Given the description of an element on the screen output the (x, y) to click on. 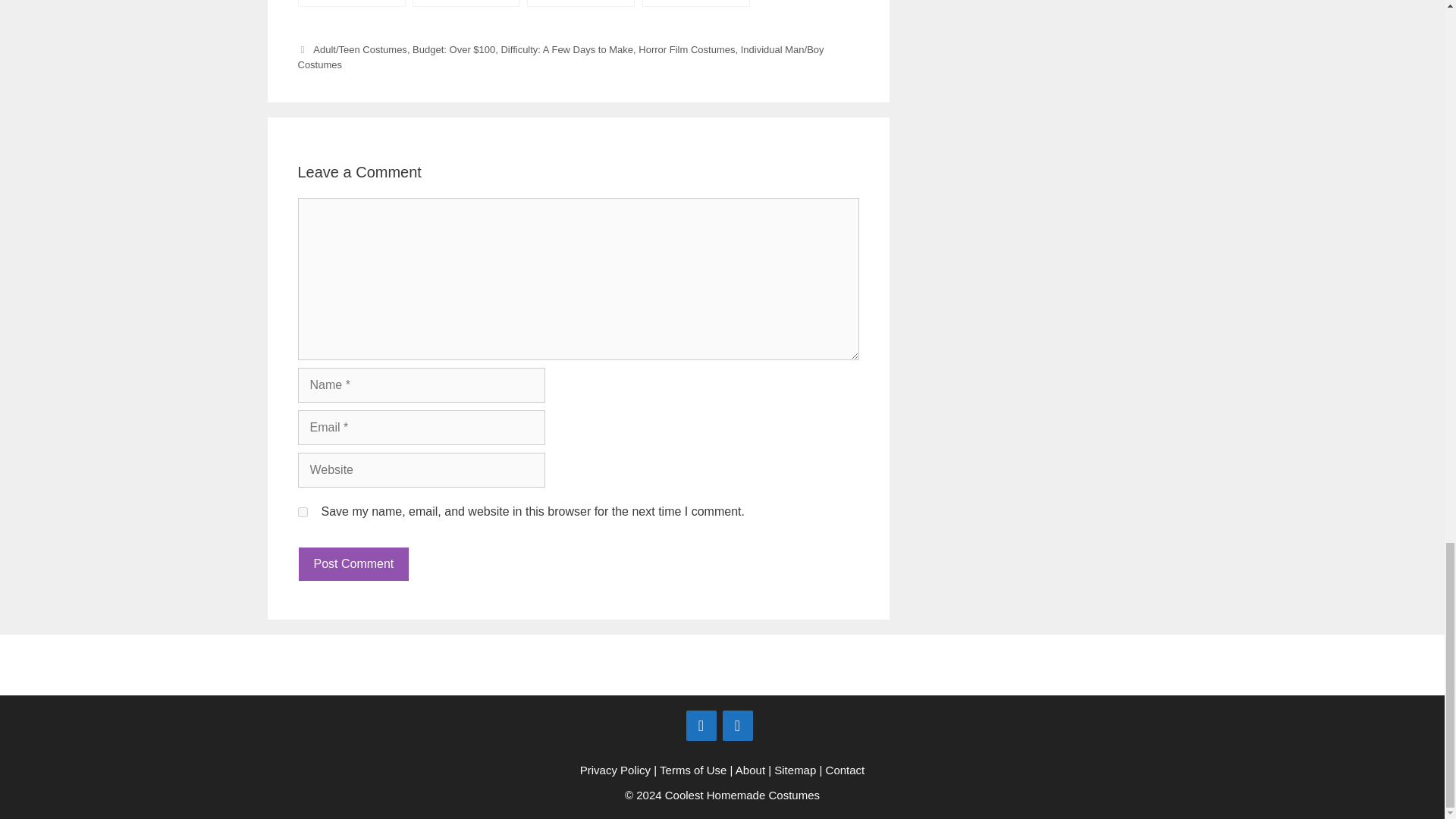
Coolest Pennywise the Clown Costume (350, 3)
Instagram (737, 725)
yes (302, 511)
Original Homemade Pennywise the Clown Costume (580, 3)
The Best Homemade Pennywise 2017 Costume EVER! (695, 3)
Facebook (700, 725)
Post Comment (353, 564)
